Given the description of an element on the screen output the (x, y) to click on. 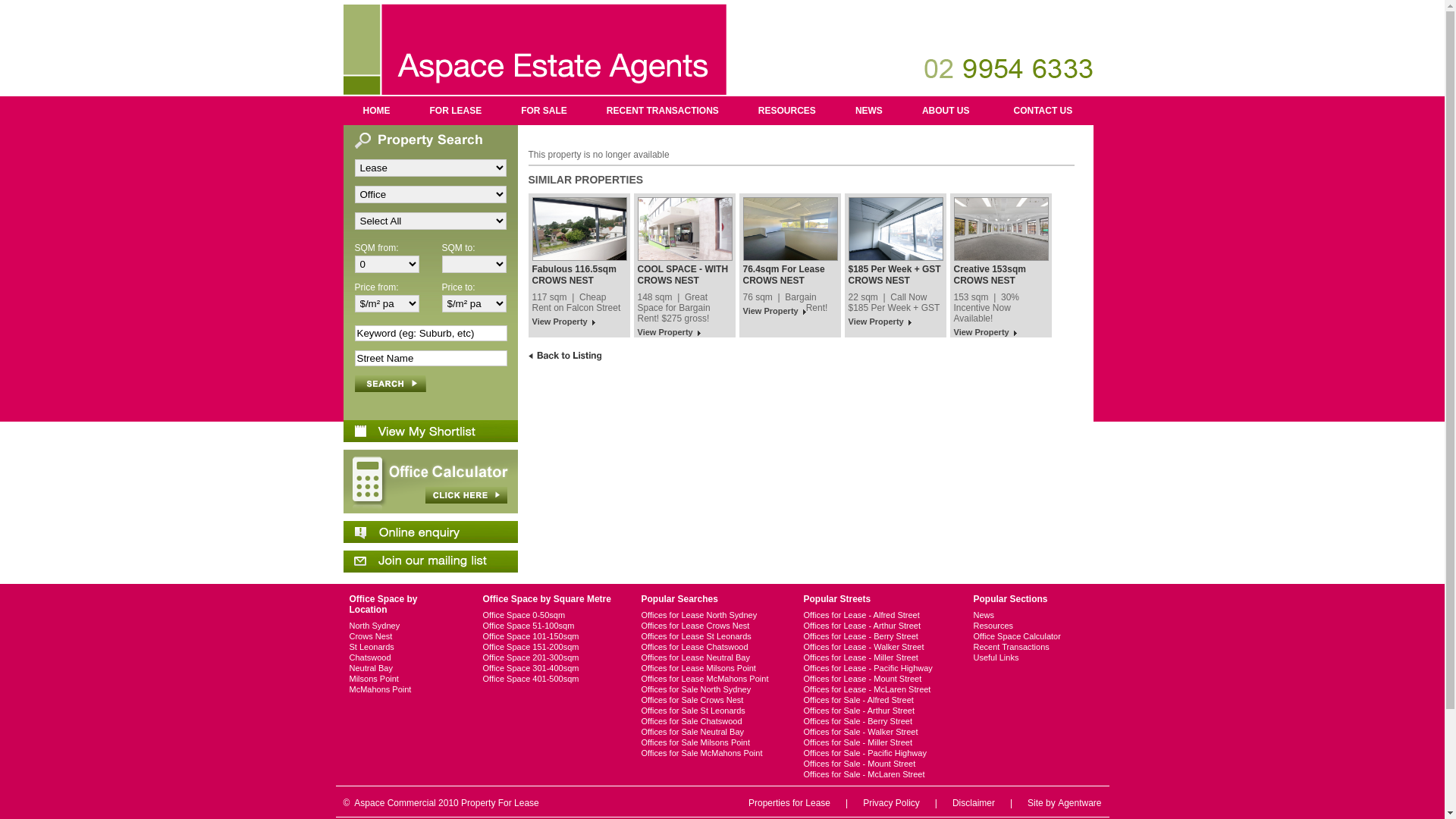
Properties for Lease Element type: text (789, 802)
Offices for Sale - Miller Street Element type: text (875, 741)
joinmailinglist Element type: hover (429, 561)
Offices for Lease - Mount Street Element type: text (875, 678)
Offices for Sale Crows Nest Element type: text (709, 699)
Useful Links Element type: text (1018, 657)
Offices for Lease - Arthur Street Element type: text (875, 625)
Office Space 201-300sqm Element type: text (548, 657)
View Property Element type: text (563, 322)
Office Space Calculator Element type: text (1018, 635)
Crows Nest Element type: text (402, 635)
Offices for Sale Neutral Bay Element type: text (709, 731)
Offices for Sale Chatswood Element type: text (709, 720)
Privacy Policy Element type: text (890, 802)
Resources Element type: text (1018, 625)
Disclaimer Element type: text (973, 802)
  Element type: text (390, 383)
Offices for Lease - McLaren Street Element type: text (875, 688)
Office Space 401-500sqm Element type: text (548, 678)
NEWS Element type: text (868, 110)
Offices for Lease Milsons Point Element type: text (709, 667)
Offices for Sale - Arthur Street Element type: text (875, 710)
Offices for Sale - Pacific Highway Element type: text (875, 752)
enquiry Element type: hover (429, 531)
RECENT TRANSACTIONS Element type: text (662, 110)
RESOURCES Element type: text (786, 110)
Keyword (eg: Suburb, etc) Element type: text (430, 333)
shortlist Element type: hover (429, 431)
Office Space 0-50sqm Element type: text (548, 614)
calculator Element type: hover (429, 481)
Recent Transactions Element type: text (1018, 646)
Agentware Element type: text (1079, 802)
Milsons Point Element type: text (402, 678)
Offices for Lease - Alfred Street Element type: text (875, 614)
View Property Element type: text (984, 332)
Neutral Bay Element type: text (402, 667)
North Sydney Element type: text (402, 625)
St Leonards Element type: text (402, 646)
Office Space 51-100sqm Element type: text (548, 625)
Street Name Element type: text (430, 358)
Offices for Lease McMahons Point Element type: text (709, 678)
Office Space 151-200sqm Element type: text (548, 646)
Offices for Lease Crows Nest Element type: text (709, 625)
ABOUT US Element type: text (945, 110)
McMahons Point Element type: text (402, 688)
Offices for Lease - Pacific Highway Element type: text (875, 667)
Office Space 101-150sqm Element type: text (548, 635)
Office Space 301-400sqm Element type: text (548, 667)
Offices for Lease Neutral Bay Element type: text (709, 657)
FOR SALE Element type: text (543, 110)
Offices for Sale - Alfred Street Element type: text (875, 699)
Offices for Sale - Berry Street Element type: text (875, 720)
Chatswood Element type: text (402, 657)
Offices for Sale North Sydney Element type: text (709, 688)
View Property Element type: text (774, 311)
Offices for Lease - Berry Street Element type: text (875, 635)
Offices for Sale Milsons Point Element type: text (709, 741)
View Property Element type: text (878, 322)
HOME Element type: text (375, 110)
Offices for Lease - Miller Street Element type: text (875, 657)
Offices for Sale - Mount Street Element type: text (875, 763)
Offices for Lease - Walker Street Element type: text (875, 646)
View Property Element type: text (668, 332)
CONTACT US Element type: text (1043, 110)
Offices for Sale McMahons Point Element type: text (709, 752)
FOR LEASE Element type: text (455, 110)
Offices for Sale St Leonards Element type: text (709, 710)
Offices for Lease St Leonards Element type: text (709, 635)
Offices for Sale - McLaren Street Element type: text (875, 773)
Offices for Sale - Walker Street Element type: text (875, 731)
News Element type: text (1018, 614)
Offices for Lease Chatswood Element type: text (709, 646)
Offices for Lease North Sydney Element type: text (709, 614)
